Given the description of an element on the screen output the (x, y) to click on. 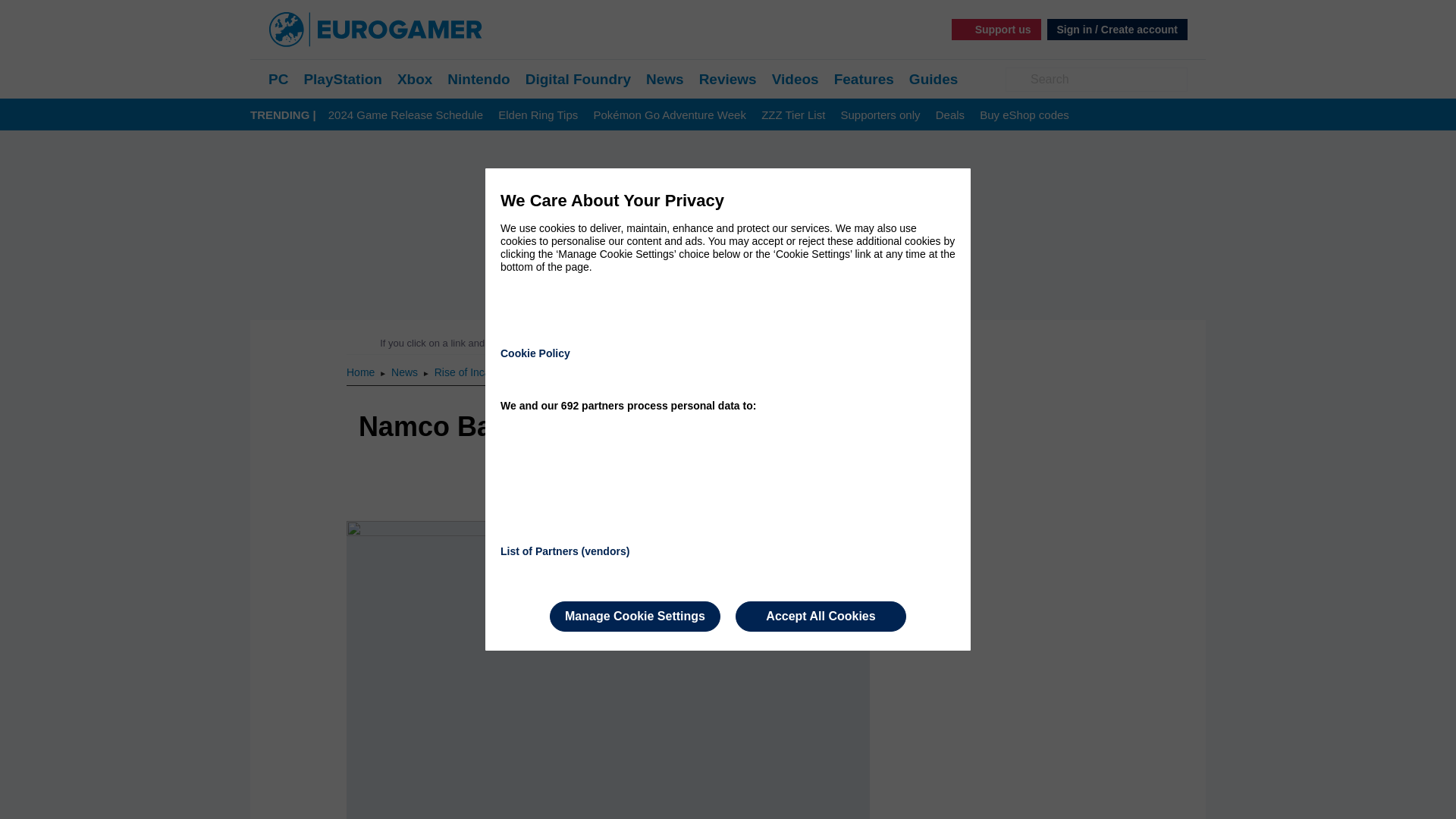
Guides (933, 78)
Rise of Incarnates (476, 372)
Supporters only (880, 114)
Rise of Incarnates (476, 372)
ZZZ Tier List (793, 114)
2024 Game Release Schedule (406, 114)
Digital Foundry (577, 78)
ZZZ Tier List (793, 114)
PlayStation (341, 78)
Home (361, 372)
